Given the description of an element on the screen output the (x, y) to click on. 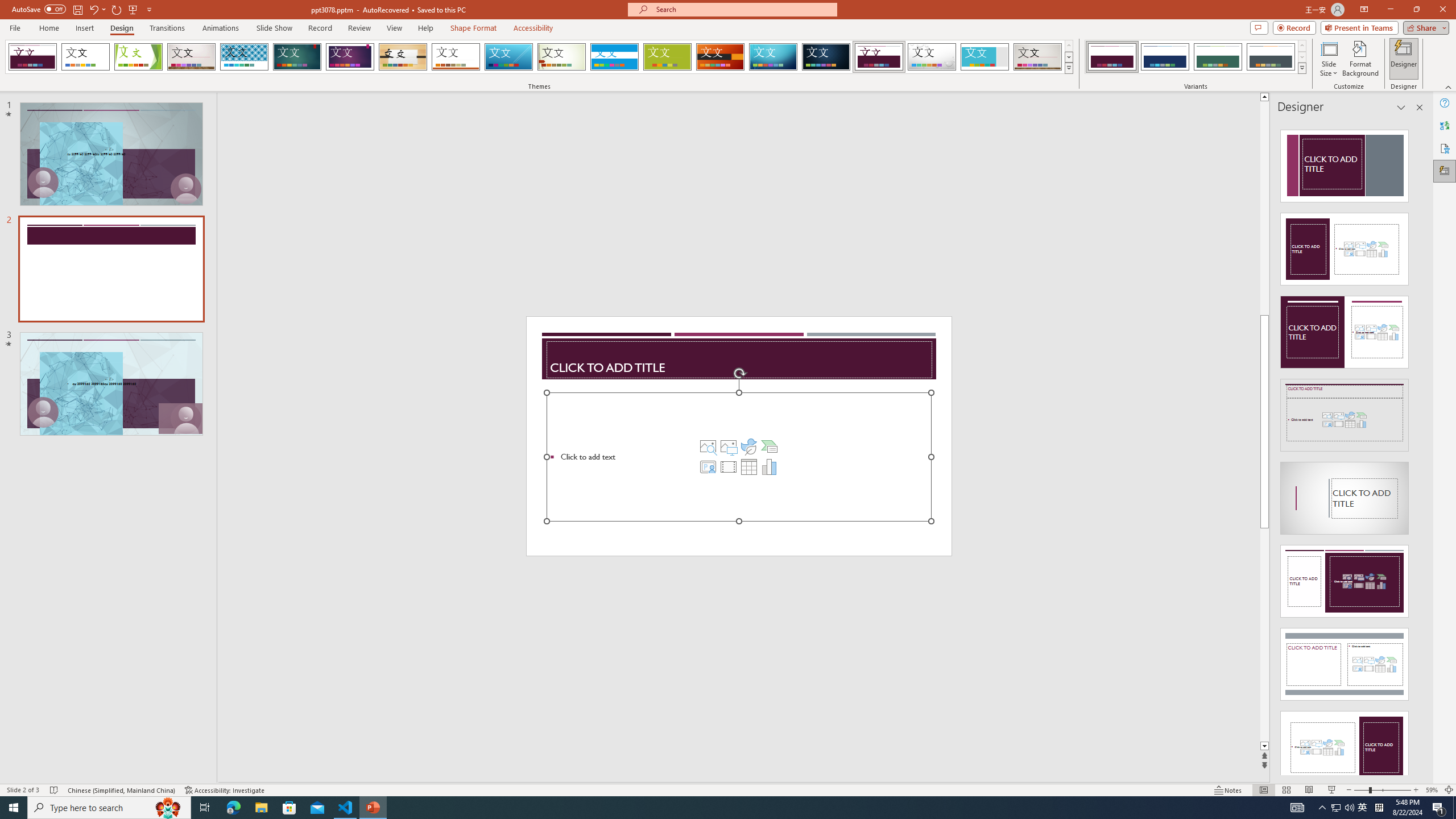
Ion (296, 56)
Damask (826, 56)
Basis (667, 56)
Organic (403, 56)
Droplet (931, 56)
Frame (984, 56)
Insert Cameo (707, 466)
Variants (1301, 67)
